Given the description of an element on the screen output the (x, y) to click on. 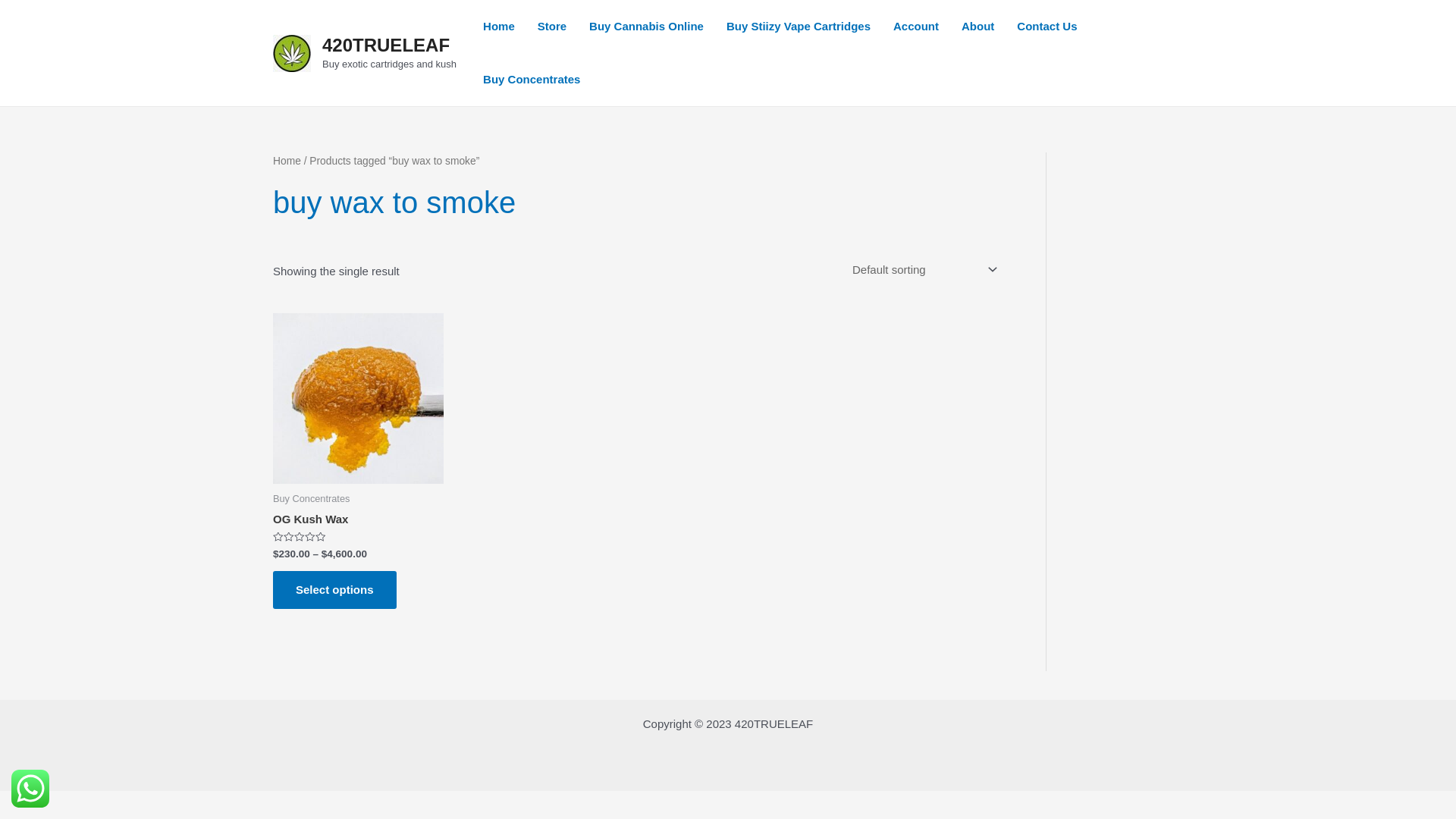
420TRUELEAF Element type: text (385, 44)
Buy Stiizy Vape Cartridges Element type: text (798, 26)
Buy Cannabis Online Element type: text (646, 26)
Buy Concentrates Element type: text (531, 79)
Home Element type: text (287, 160)
Store Element type: text (551, 26)
Contact Us Element type: text (1046, 26)
Account Element type: text (915, 26)
About Element type: text (977, 26)
Home Element type: text (498, 26)
Select options Element type: text (334, 589)
OG Kush Wax Element type: text (310, 522)
